Given the description of an element on the screen output the (x, y) to click on. 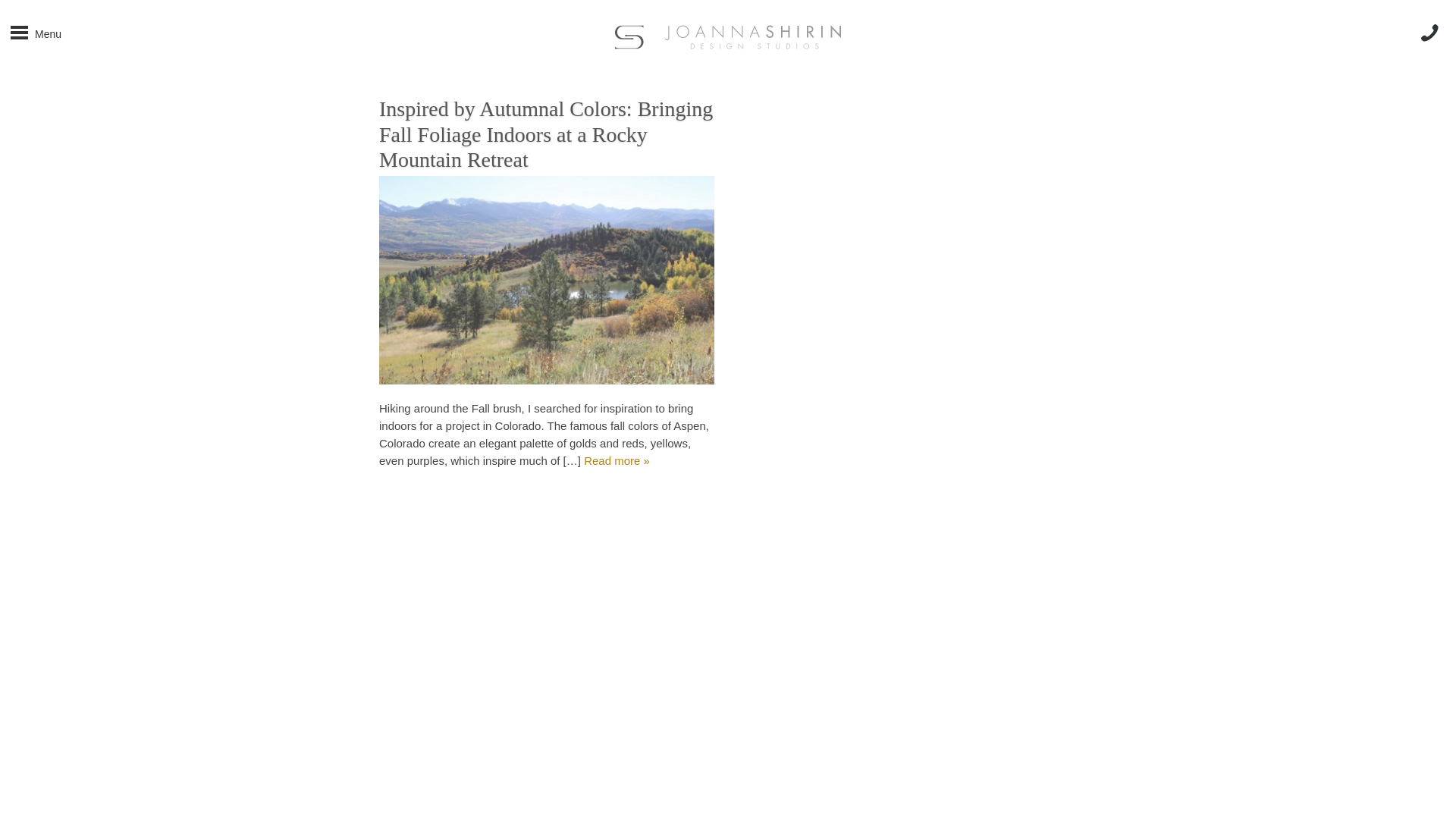
Services (19, 107)
Home (11, 16)
About (11, 46)
Testimonials (30, 138)
Portfolio (18, 77)
Welcome to JS Design Studio (11, 16)
Book Consultation (47, 169)
